Given the description of an element on the screen output the (x, y) to click on. 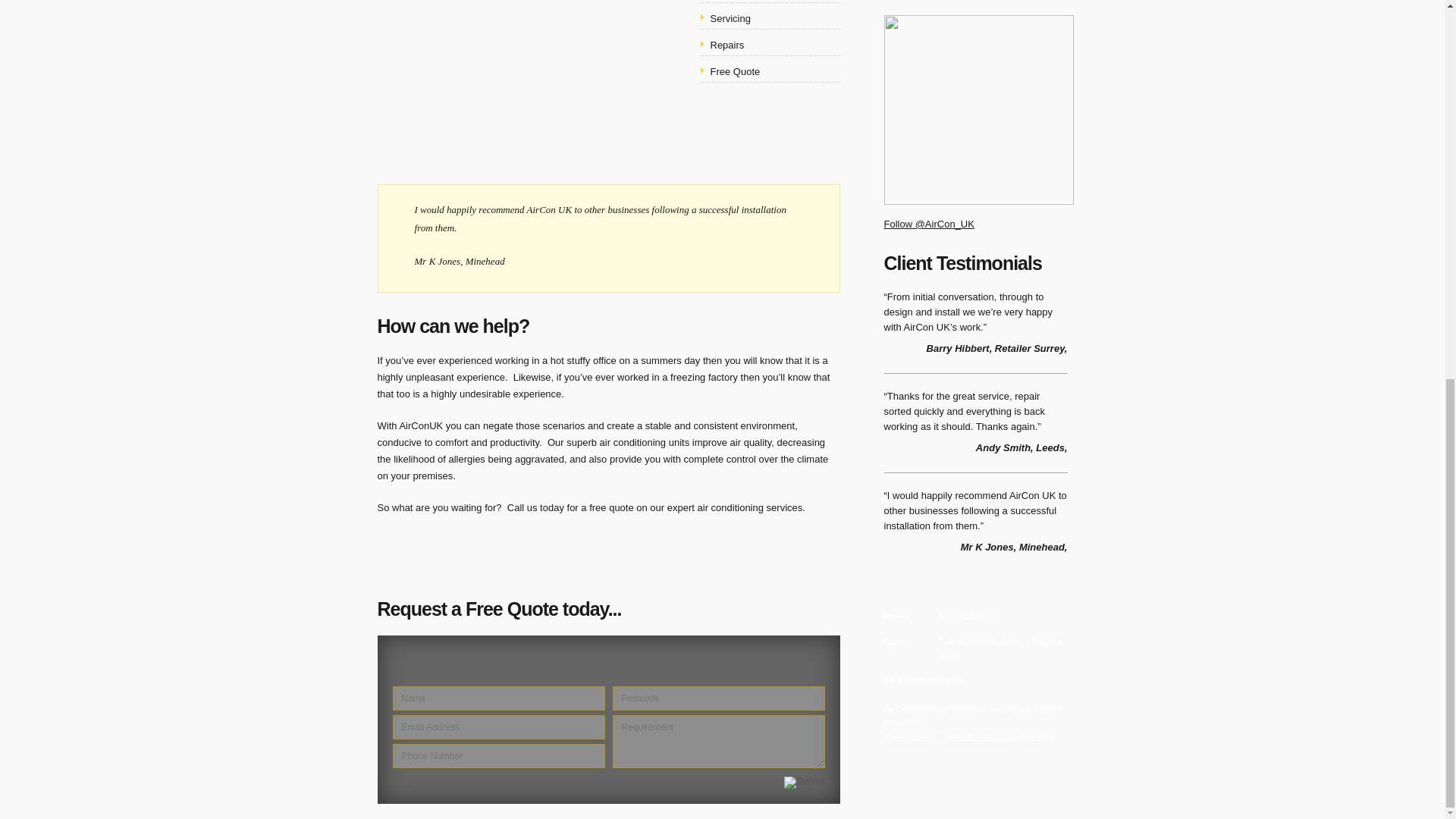
Repairs (727, 44)
Servicing (729, 18)
Privacy Policy (909, 736)
Free Quote (735, 71)
Site Map (1036, 736)
